Given the description of an element on the screen output the (x, y) to click on. 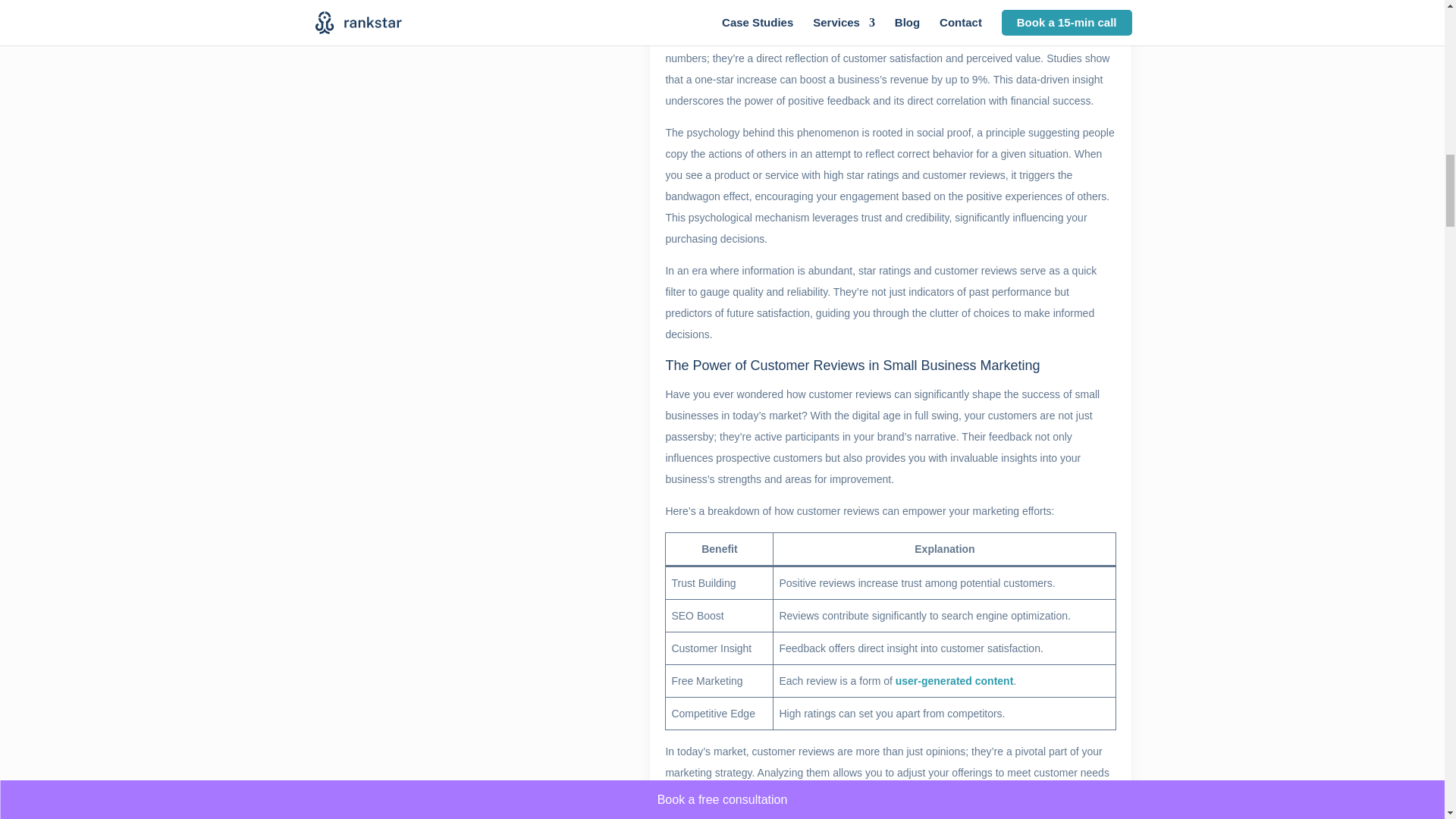
user-generated content (954, 680)
